Given the description of an element on the screen output the (x, y) to click on. 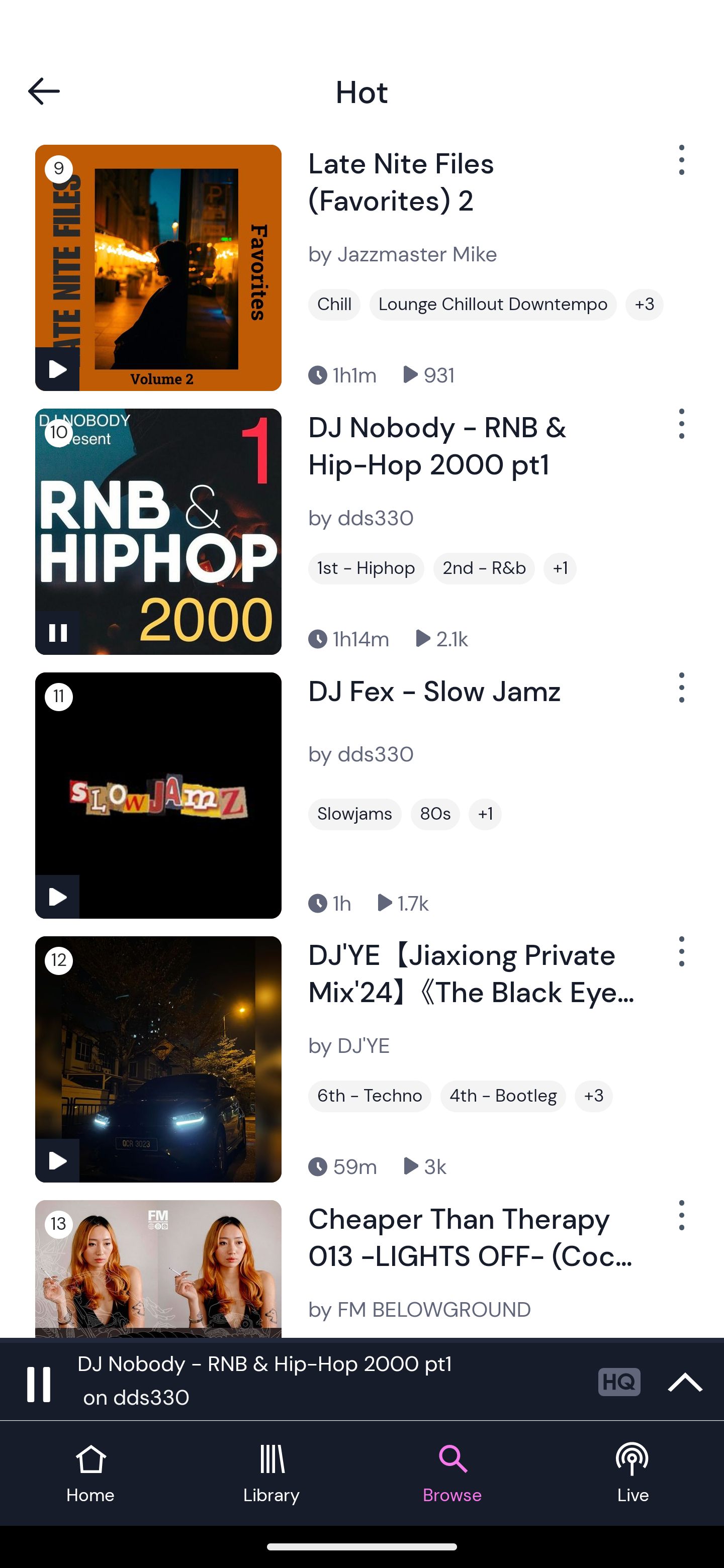
Show Options Menu Button (679, 166)
Chill (334, 303)
Lounge Chillout Downtempo (492, 303)
Show Options Menu Button (679, 431)
1st - Hiphop (366, 568)
2nd - R&b (484, 568)
Show Options Menu Button (679, 695)
Slowjams (354, 813)
80s (434, 813)
Show Options Menu Button (679, 958)
6th - Techno (369, 1095)
4th - Bootleg (503, 1095)
Show Options Menu Button (679, 1222)
Home tab Home (90, 1473)
Library tab Library (271, 1473)
Browse tab Browse (452, 1473)
Live tab Live (633, 1473)
